Given the description of an element on the screen output the (x, y) to click on. 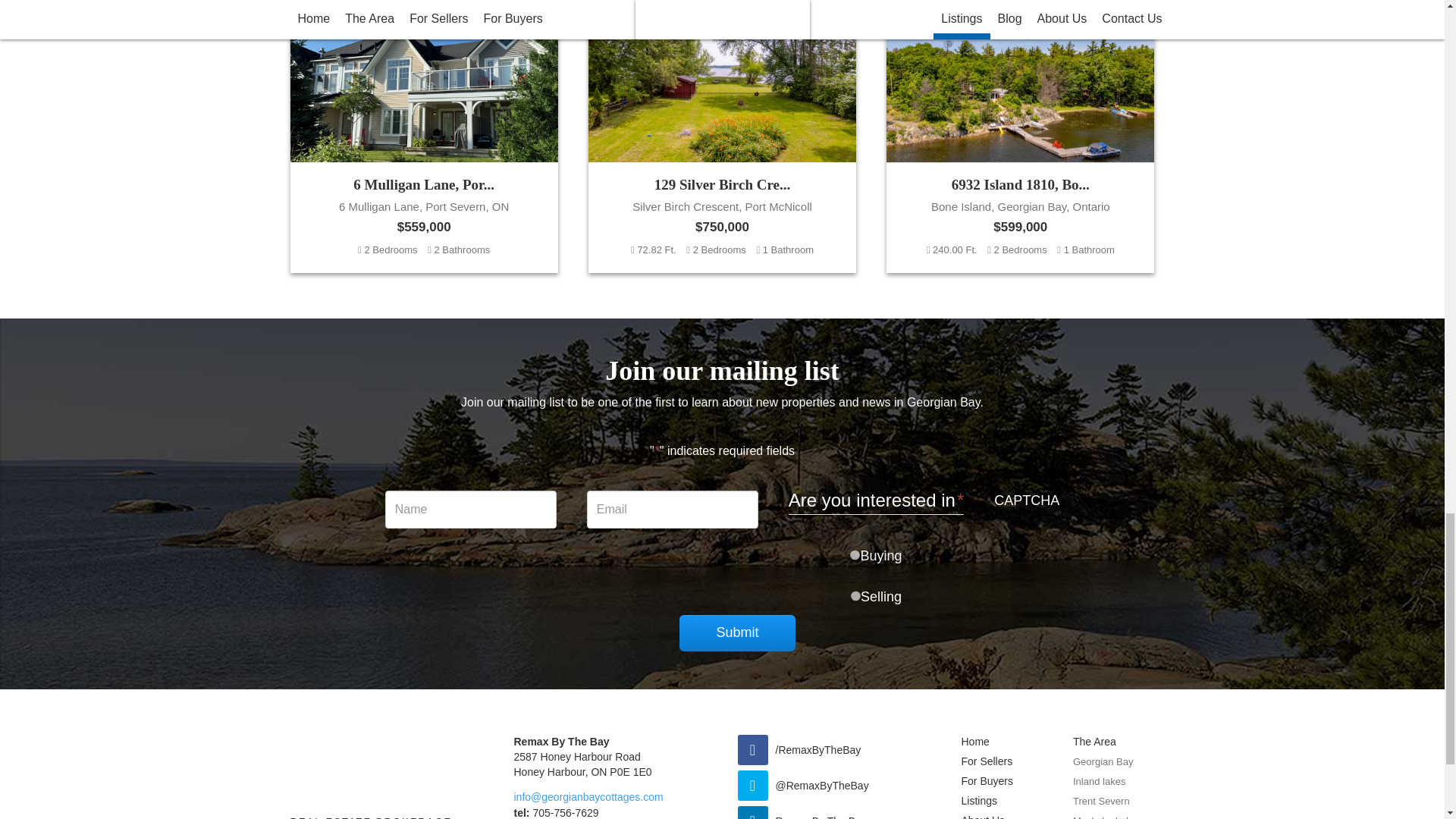
6932 Island 1810, Bone Island, Georgian Bay, ON (1020, 136)
Get Directions? (582, 764)
129 Silver Birch Crescent, Port McNicoll, Tay TWP, ON (722, 136)
Call Us Locally (555, 812)
Email Us (588, 797)
Submit (736, 633)
6 Mulligan Lane, Port Severn, ON (423, 136)
